Given the description of an element on the screen output the (x, y) to click on. 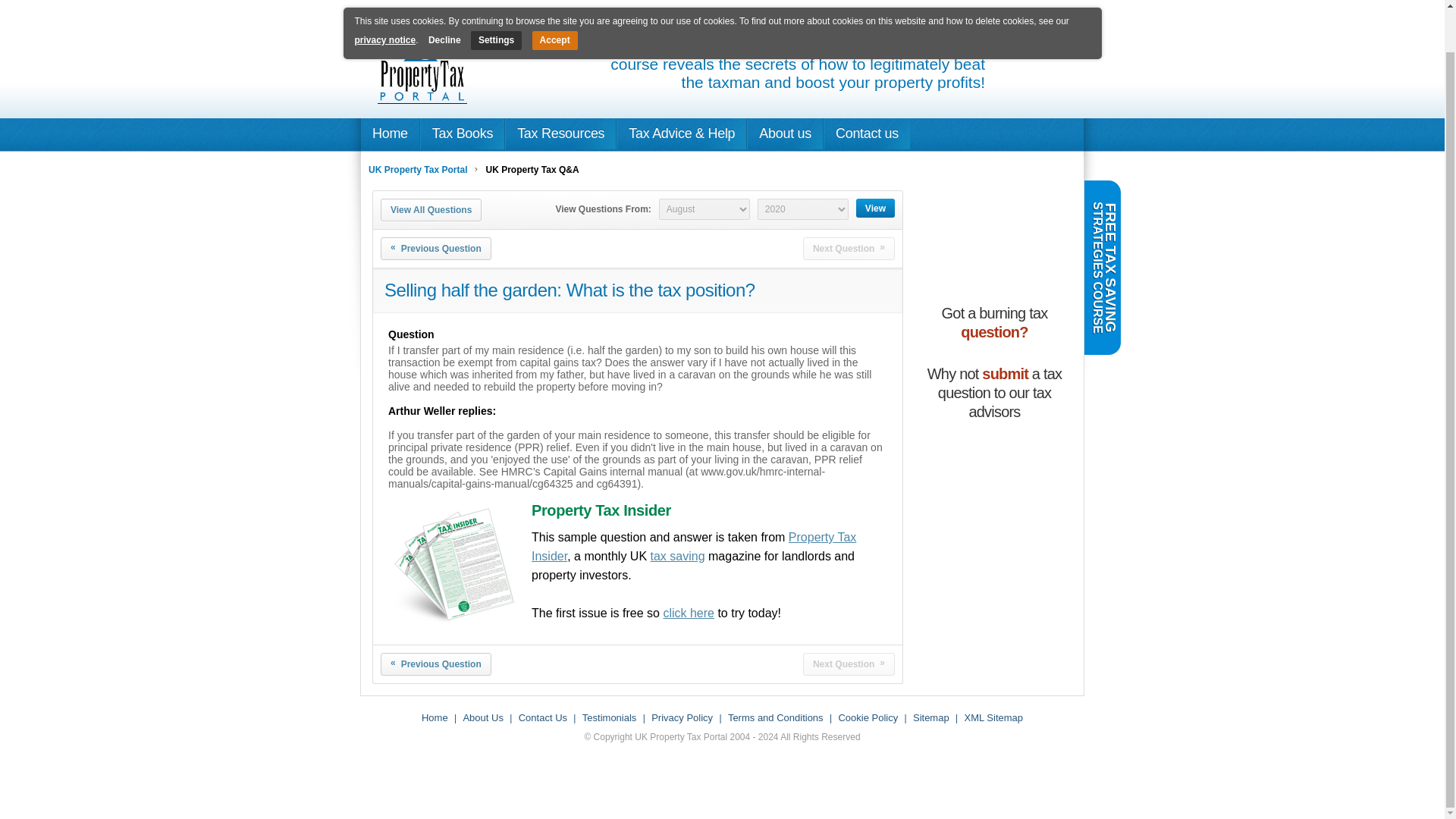
click here (688, 612)
View All Questions (430, 210)
Ask a Question (995, 470)
UK Property Tax Portal (417, 169)
FREE TAX SAVING STRATEGIES COURSE (1171, 198)
Settings (495, 2)
View (875, 208)
Accept (555, 2)
Property Tax Insider (693, 546)
Cookie Policy (868, 717)
